Given the description of an element on the screen output the (x, y) to click on. 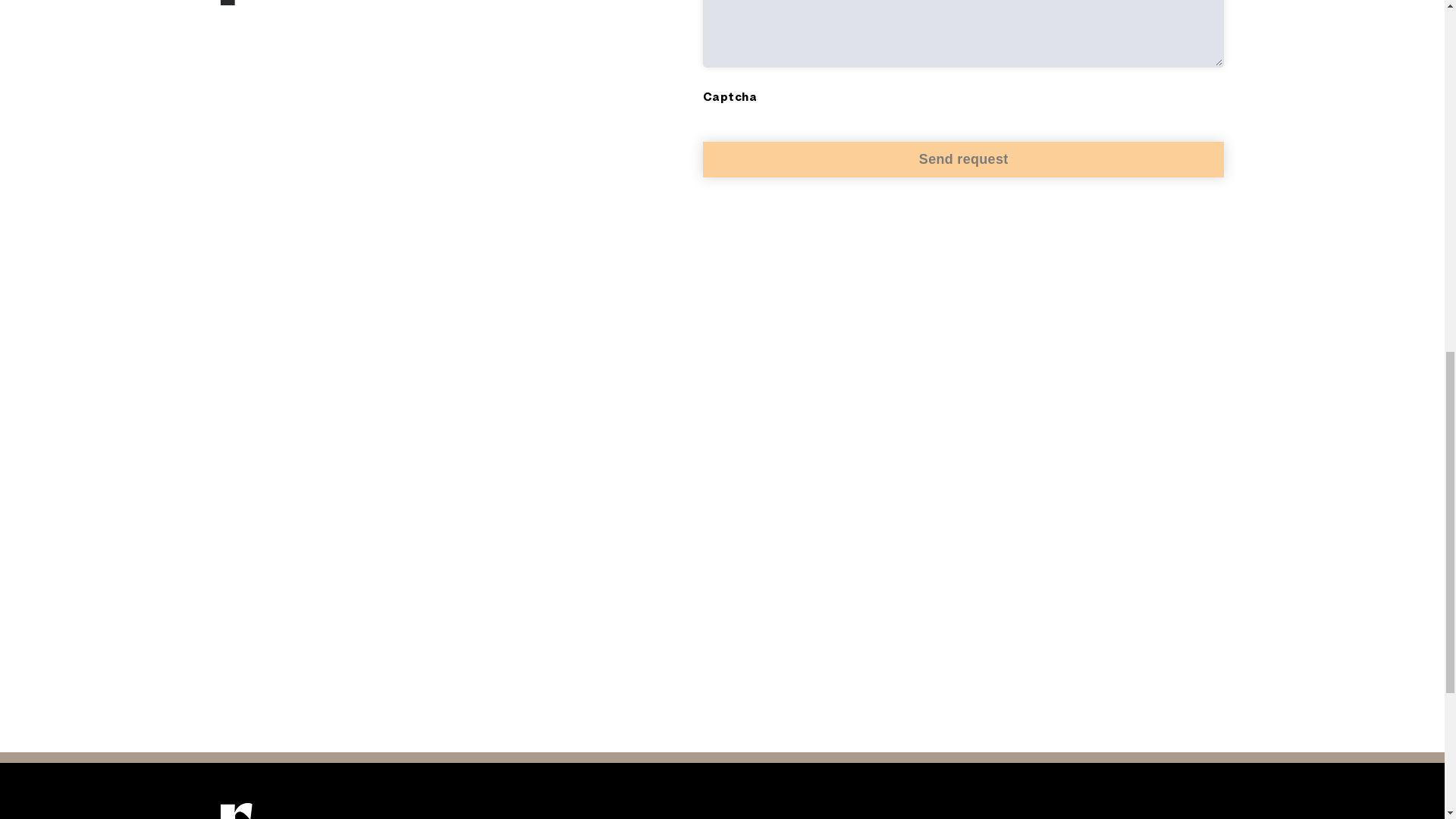
Send request (963, 159)
Send request (963, 159)
